Given the description of an element on the screen output the (x, y) to click on. 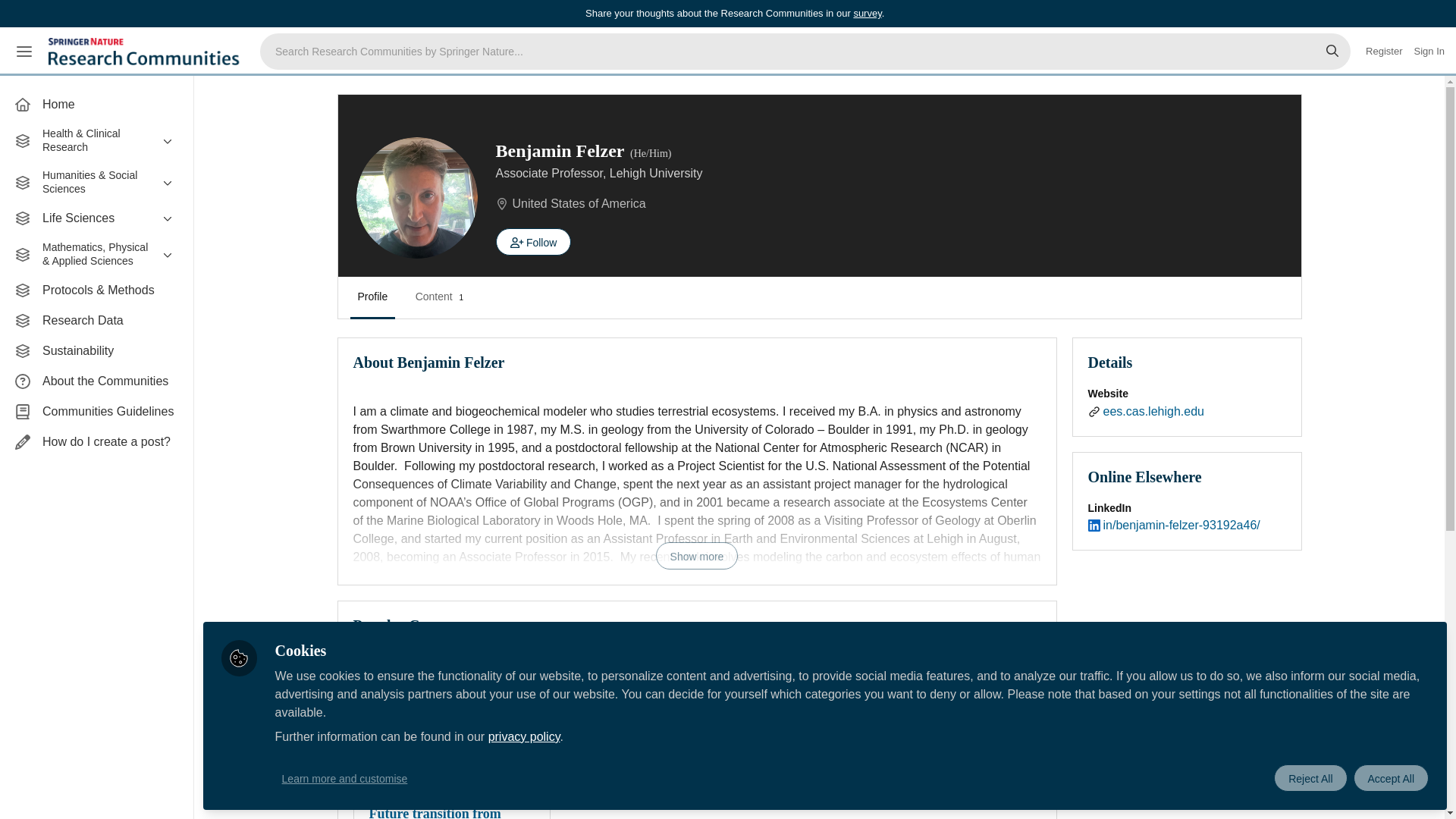
Menu (24, 51)
survey (866, 12)
Home (96, 103)
Search (1332, 51)
Research Communities by Springer Nature (146, 51)
Life Sciences (96, 217)
Home (96, 103)
Life Sciences (96, 217)
